Given the description of an element on the screen output the (x, y) to click on. 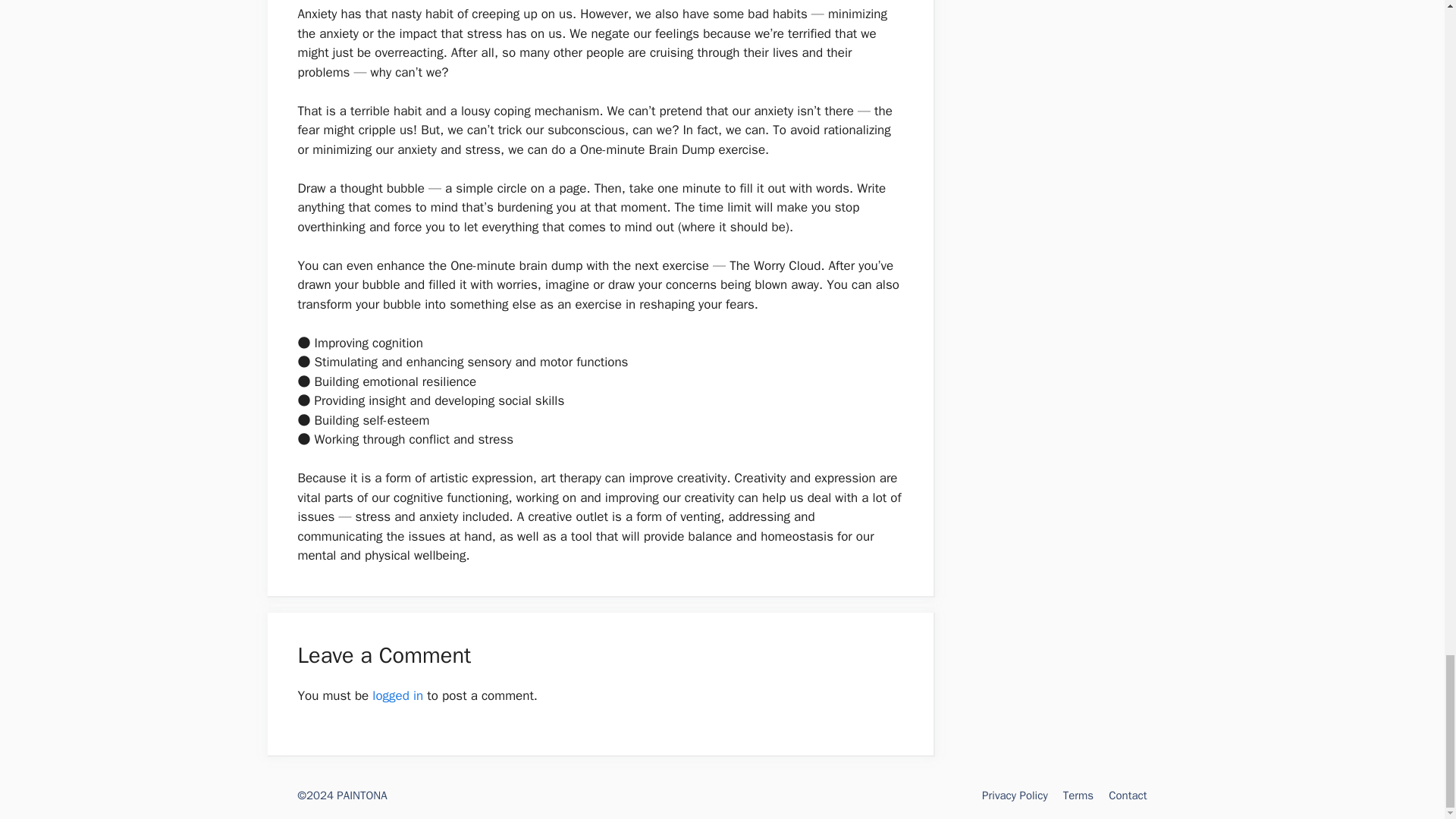
logged in (397, 695)
